Given the description of an element on the screen output the (x, y) to click on. 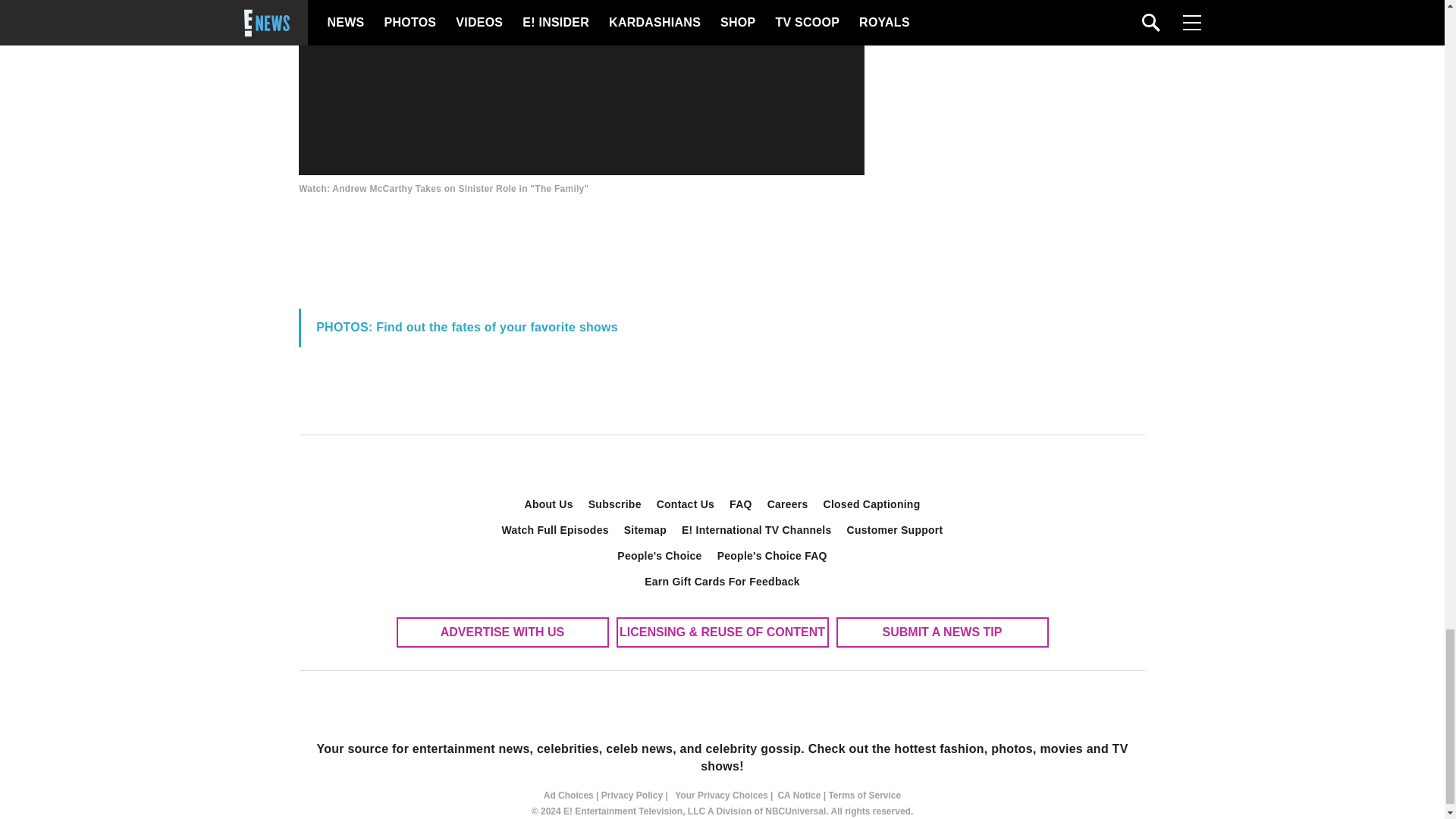
PHOTOS: Find out the fates of your favorite shows (466, 327)
Subscribe (614, 503)
Contact Us (685, 503)
About Us (548, 503)
Watch Full Episodes (555, 529)
Careers (787, 503)
Closed Captioning (871, 503)
FAQ (741, 503)
